Given the description of an element on the screen output the (x, y) to click on. 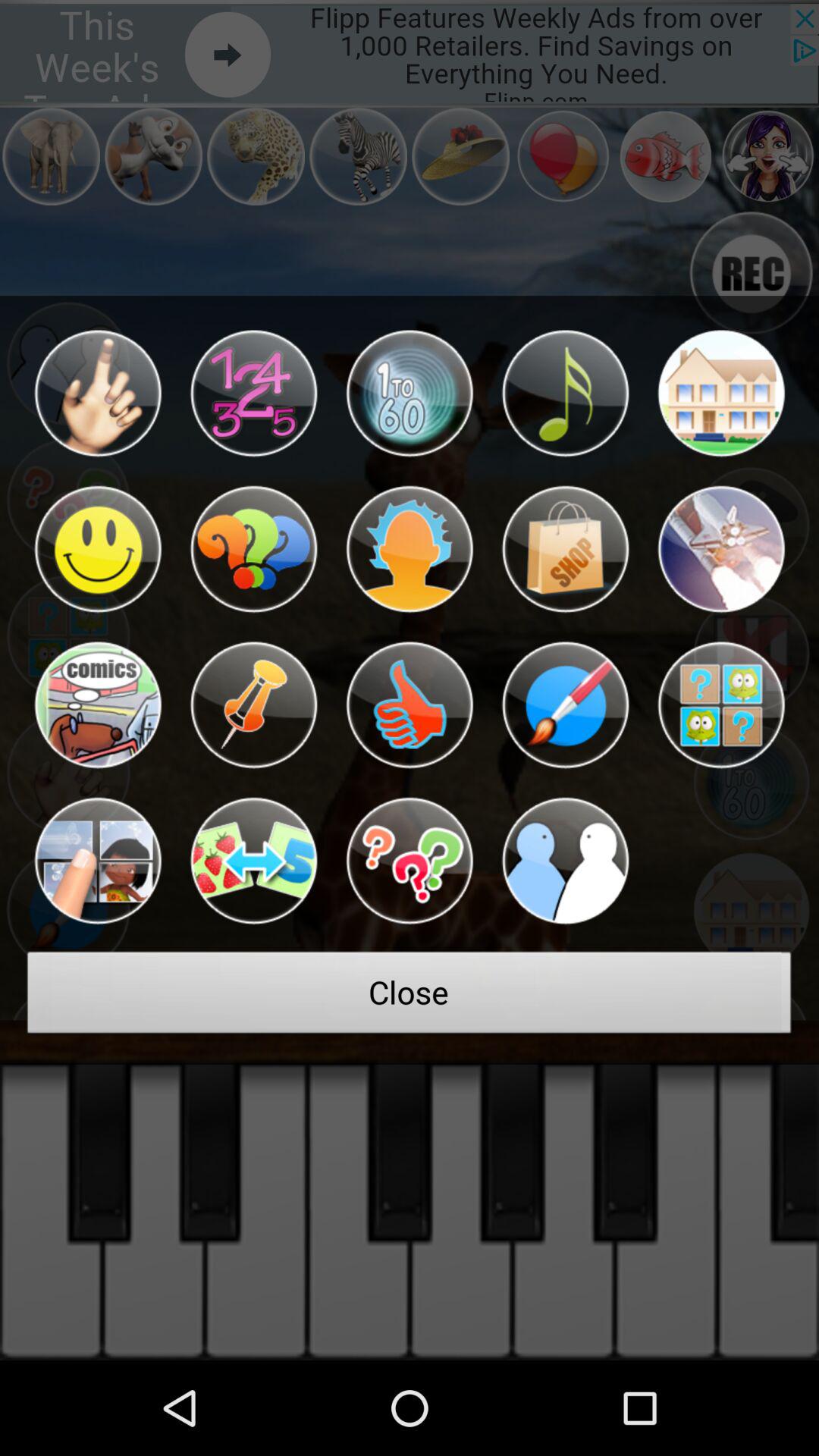
help (409, 861)
